Given the description of an element on the screen output the (x, y) to click on. 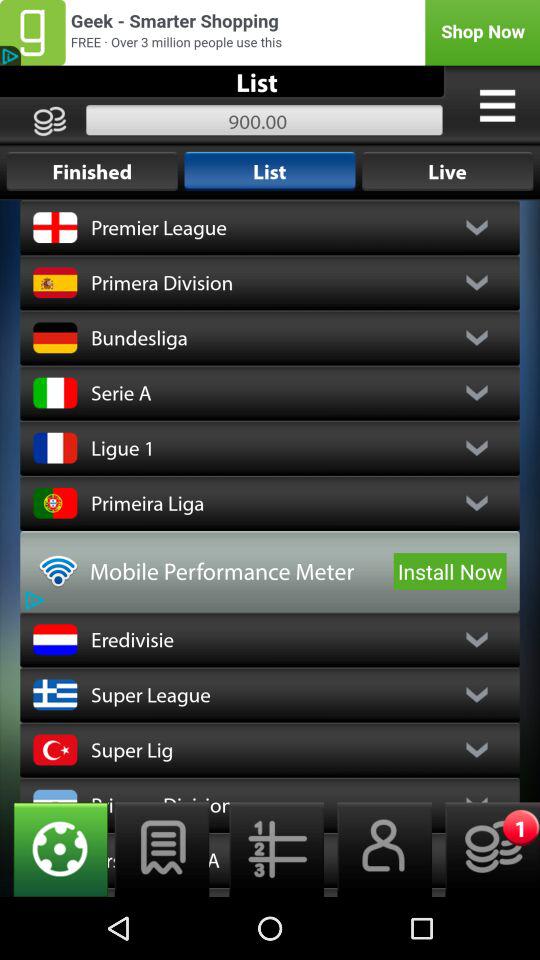
advertisement at top (270, 32)
